Given the description of an element on the screen output the (x, y) to click on. 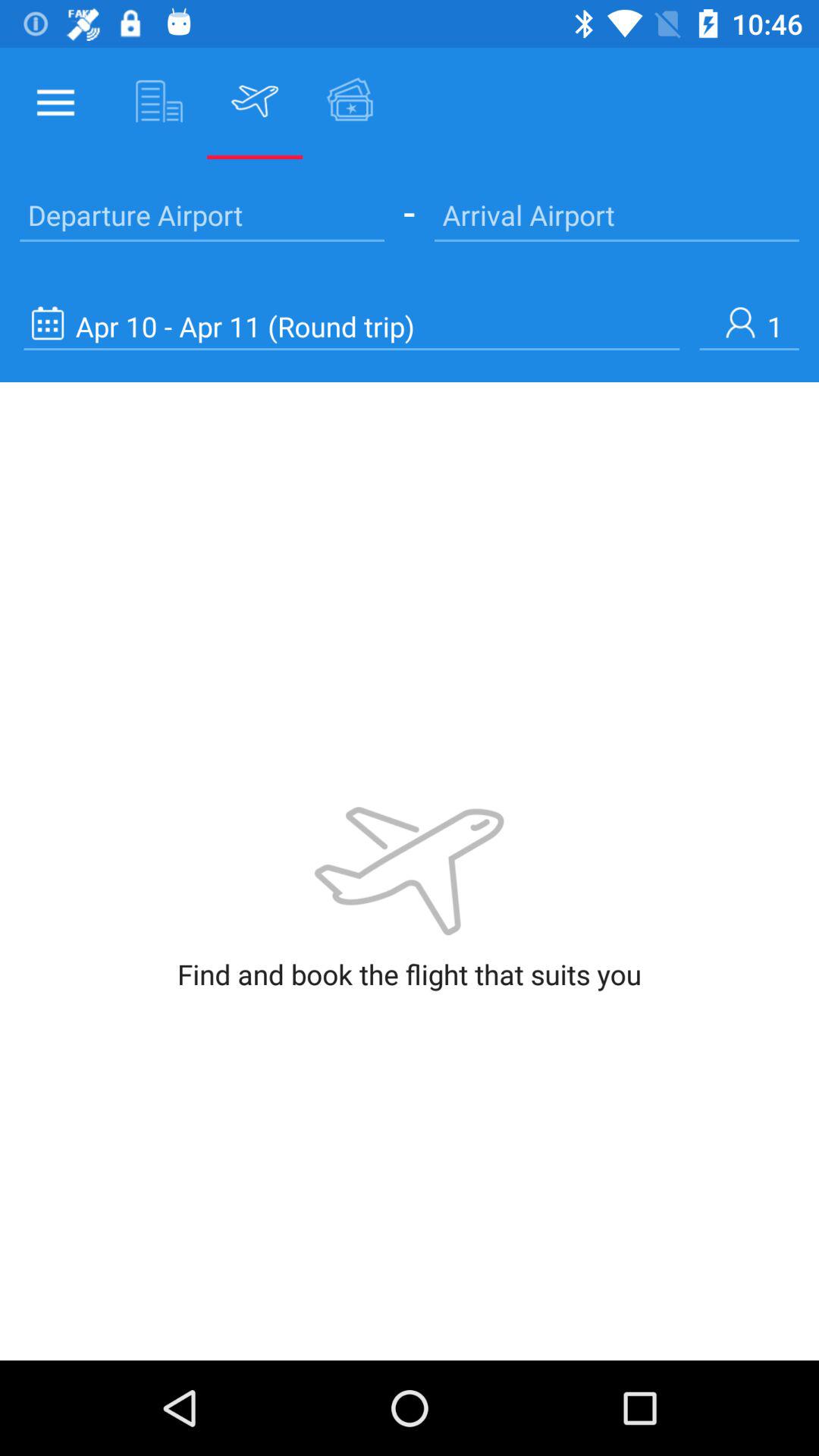
click on the field arrival airport (616, 214)
select the human icon on the web page (749, 326)
click on the icon right to flight icon (350, 101)
select the text below departure airport (351, 326)
click on the text departure airport (201, 214)
click on last option in the page beside 1 number (351, 326)
click on the image which is at center of the page (409, 871)
select the text field arrival airport on the web page (616, 214)
click on the third icon at top left corner of the page (254, 101)
